Given the description of an element on the screen output the (x, y) to click on. 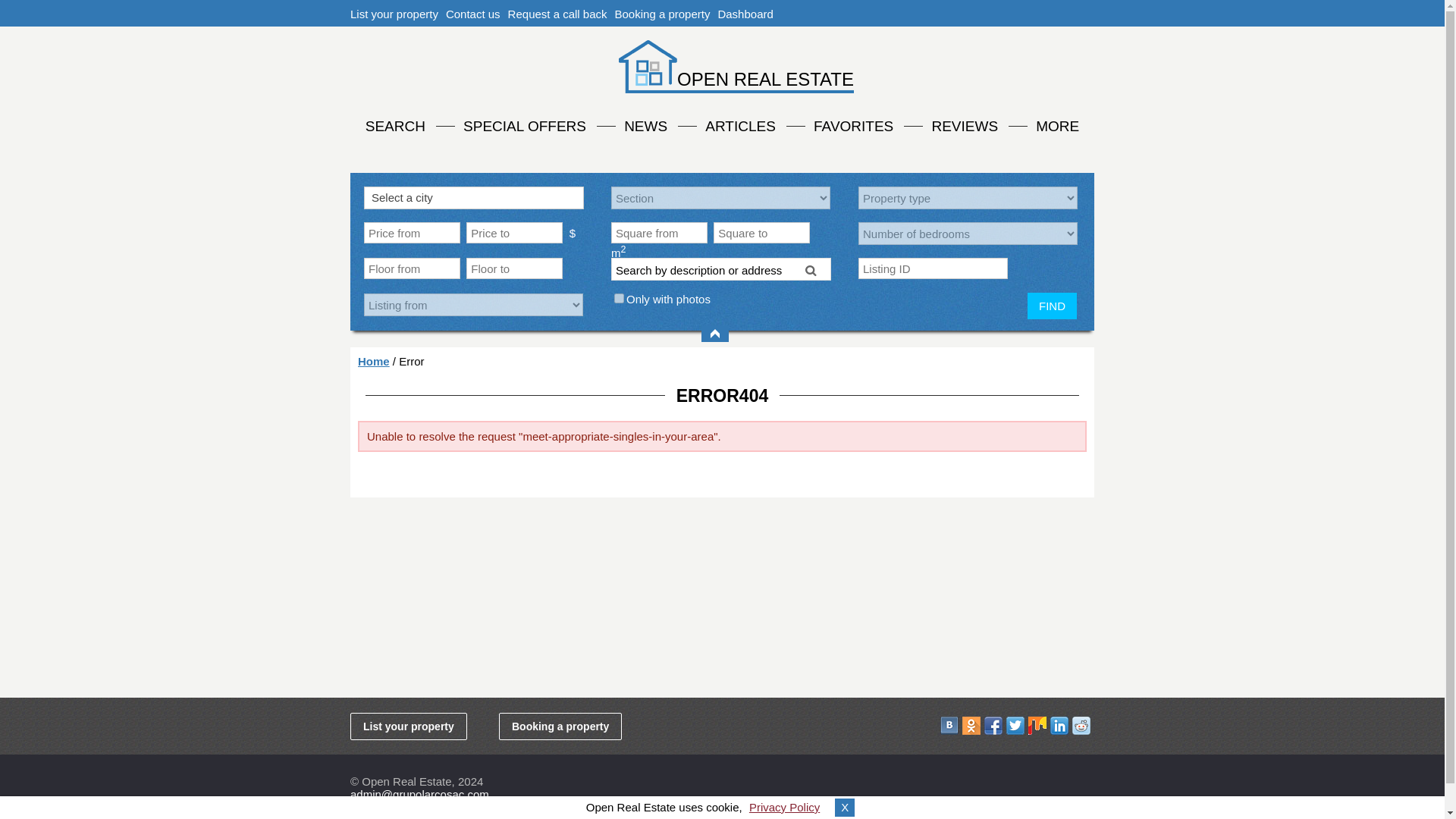
Request a call back (557, 13)
NEWS (645, 125)
List your property (394, 13)
ARTICLES (740, 125)
1 (619, 298)
Home (374, 360)
Contact us (472, 13)
Booking a property (662, 13)
FAVORITES (853, 125)
FIND (1052, 305)
